Given the description of an element on the screen output the (x, y) to click on. 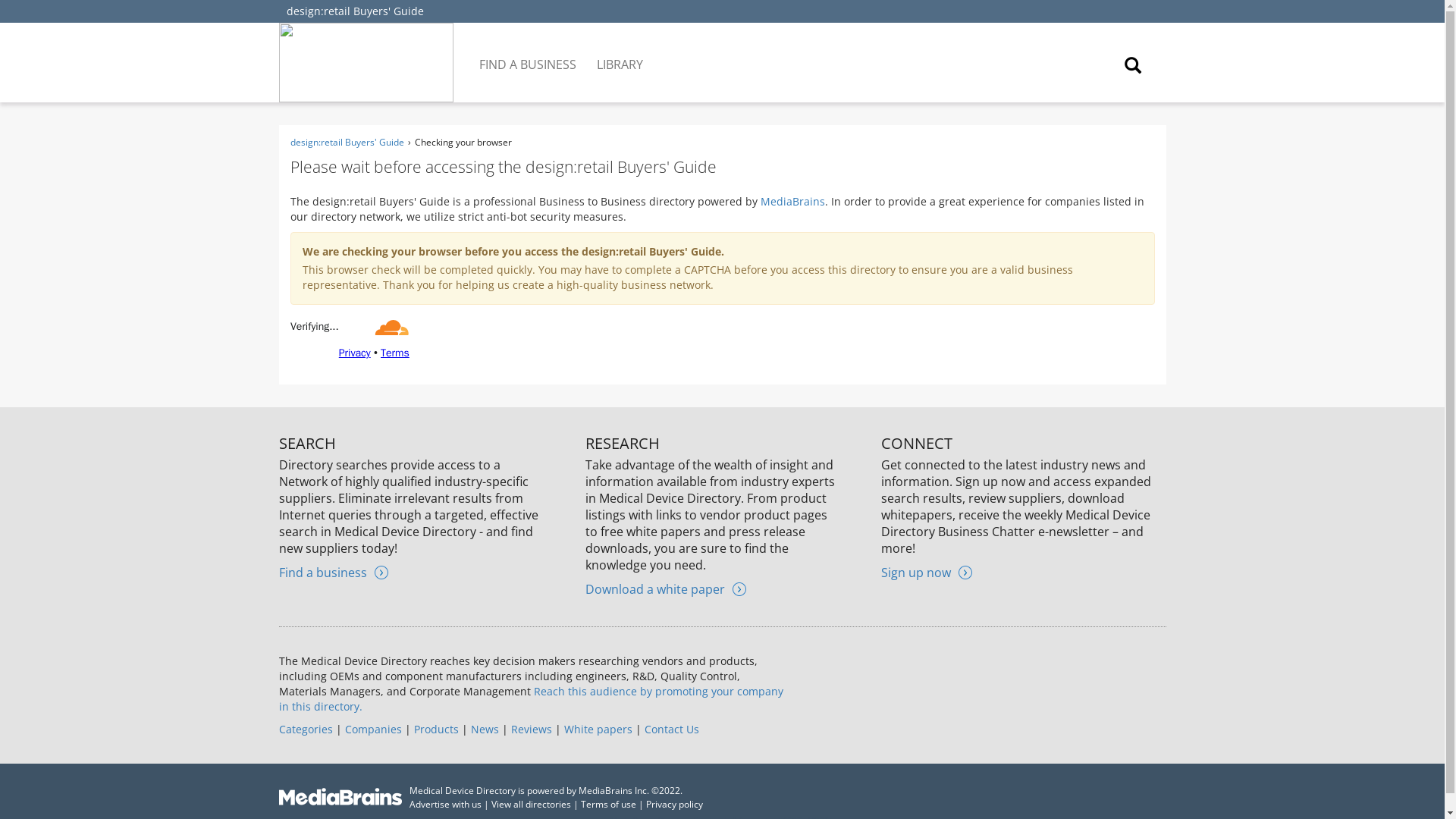
design:retail Buyers' Guide (346, 141)
Products (435, 728)
LIBRARY (620, 52)
View all directories (531, 803)
FIND A BUSINESS (528, 52)
News (483, 728)
Terms of use (608, 803)
MediaBrains (792, 201)
design:retail Buyers' Guide (354, 11)
Contact Us (671, 728)
Reviews (531, 728)
Sign up now (926, 572)
Download a white paper (665, 588)
Advertise with us (445, 803)
